Given the description of an element on the screen output the (x, y) to click on. 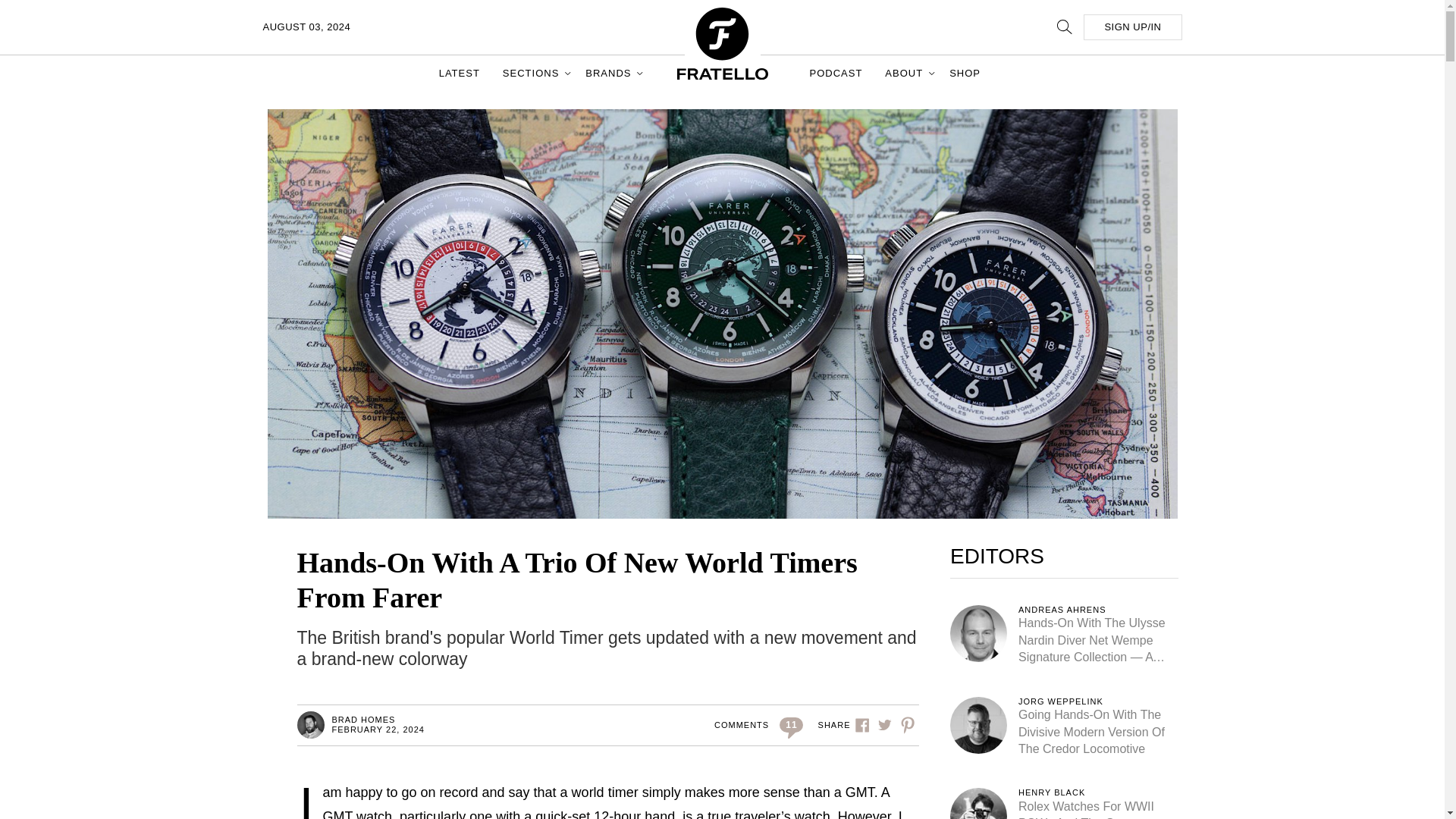
BRANDS (609, 72)
LATEST (460, 72)
SECTIONS (532, 72)
